Given the description of an element on the screen output the (x, y) to click on. 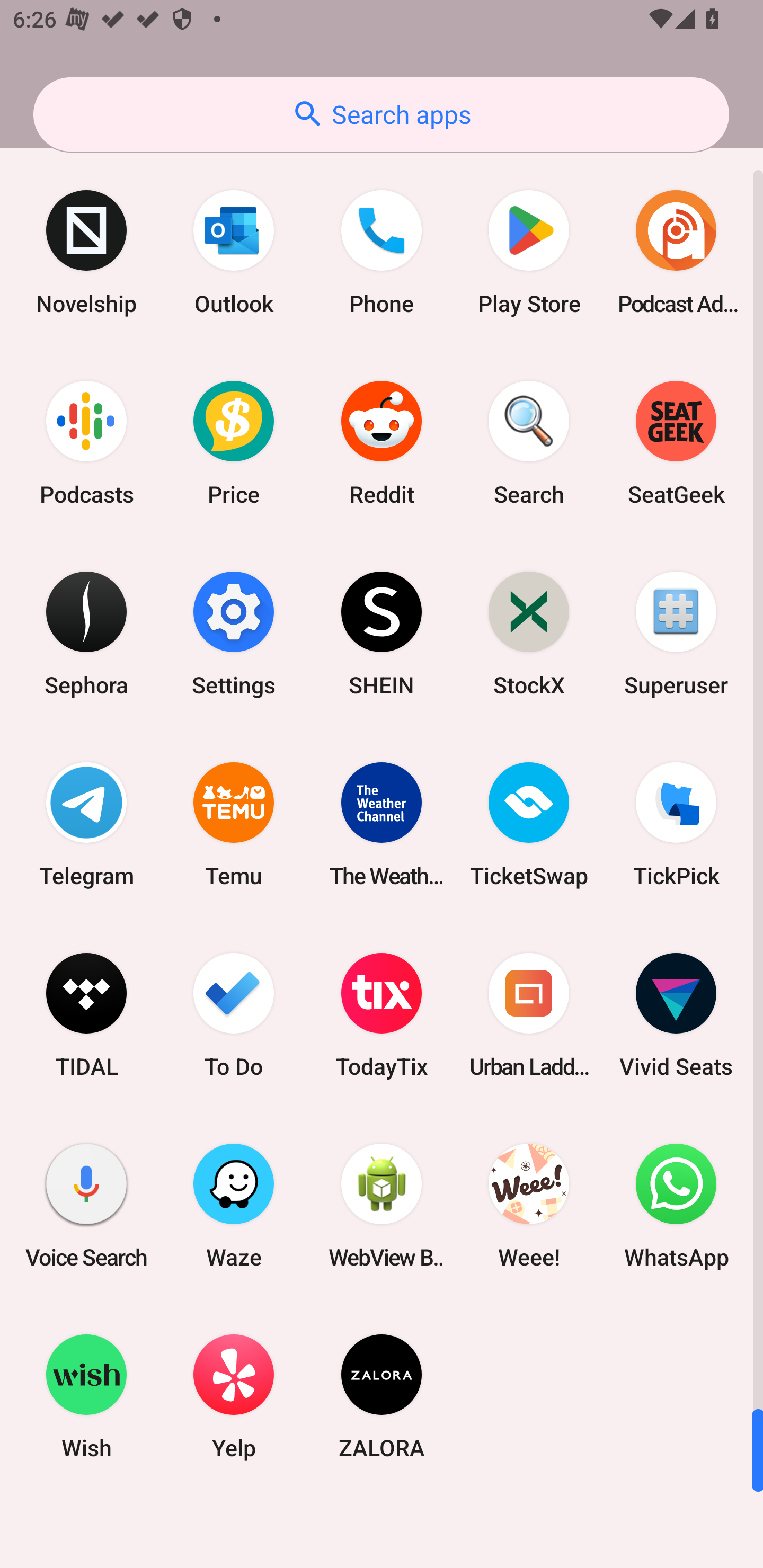
Yelp (233, 1396)
